Given the description of an element on the screen output the (x, y) to click on. 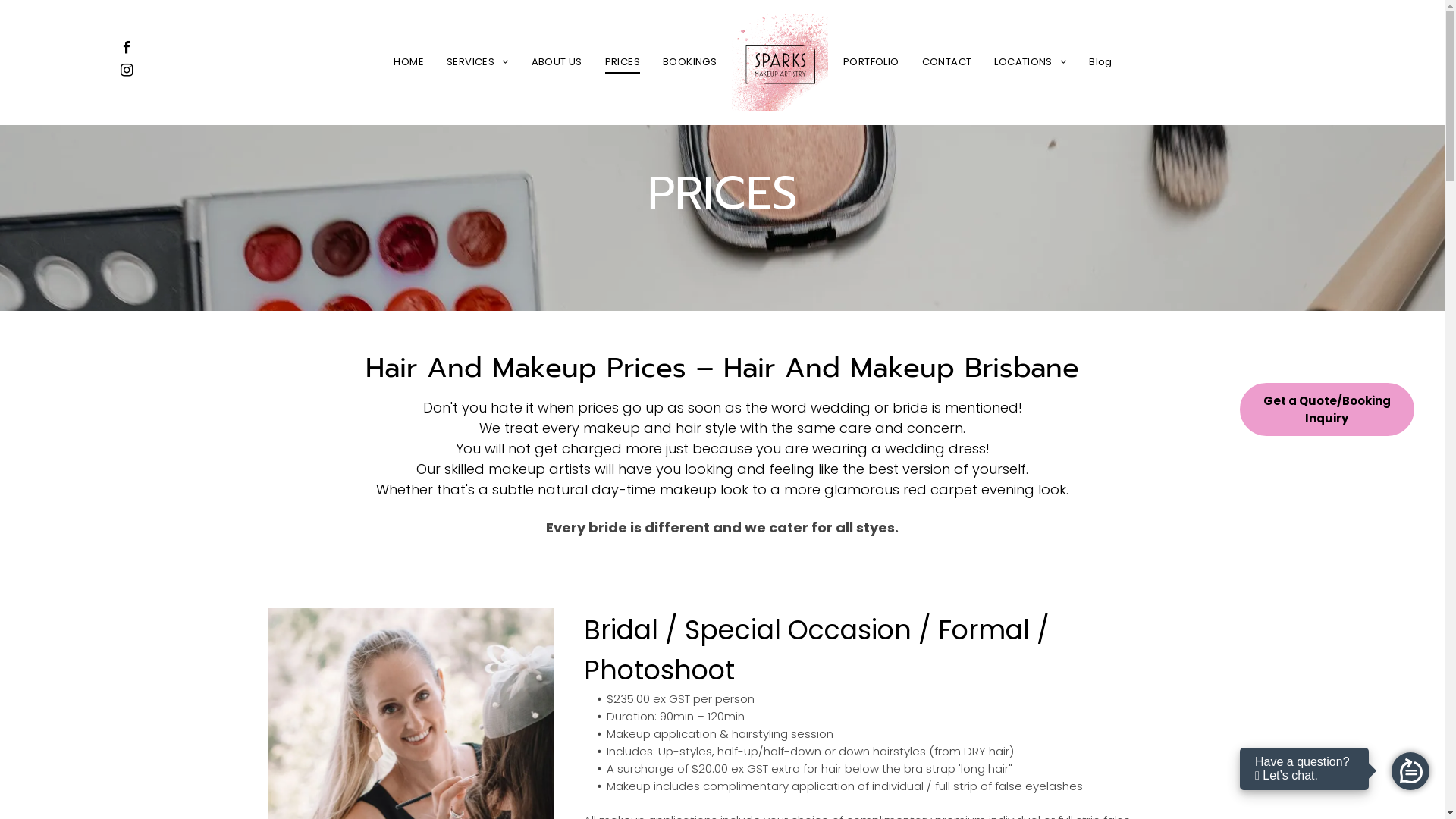
ABOUT US Element type: text (556, 62)
CONTACT Element type: text (946, 62)
Get a Quote/Booking Inquiry Element type: text (1326, 409)
HOME Element type: text (408, 62)
PRICES Element type: text (622, 62)
SERVICES Element type: text (477, 62)
BOOKINGS Element type: text (689, 62)
PORTFOLIO Element type: text (870, 62)
Live Chat Element type: hover (1410, 771)
LOCATIONS Element type: text (1029, 62)
Blog Element type: text (1100, 62)
